Given the description of an element on the screen output the (x, y) to click on. 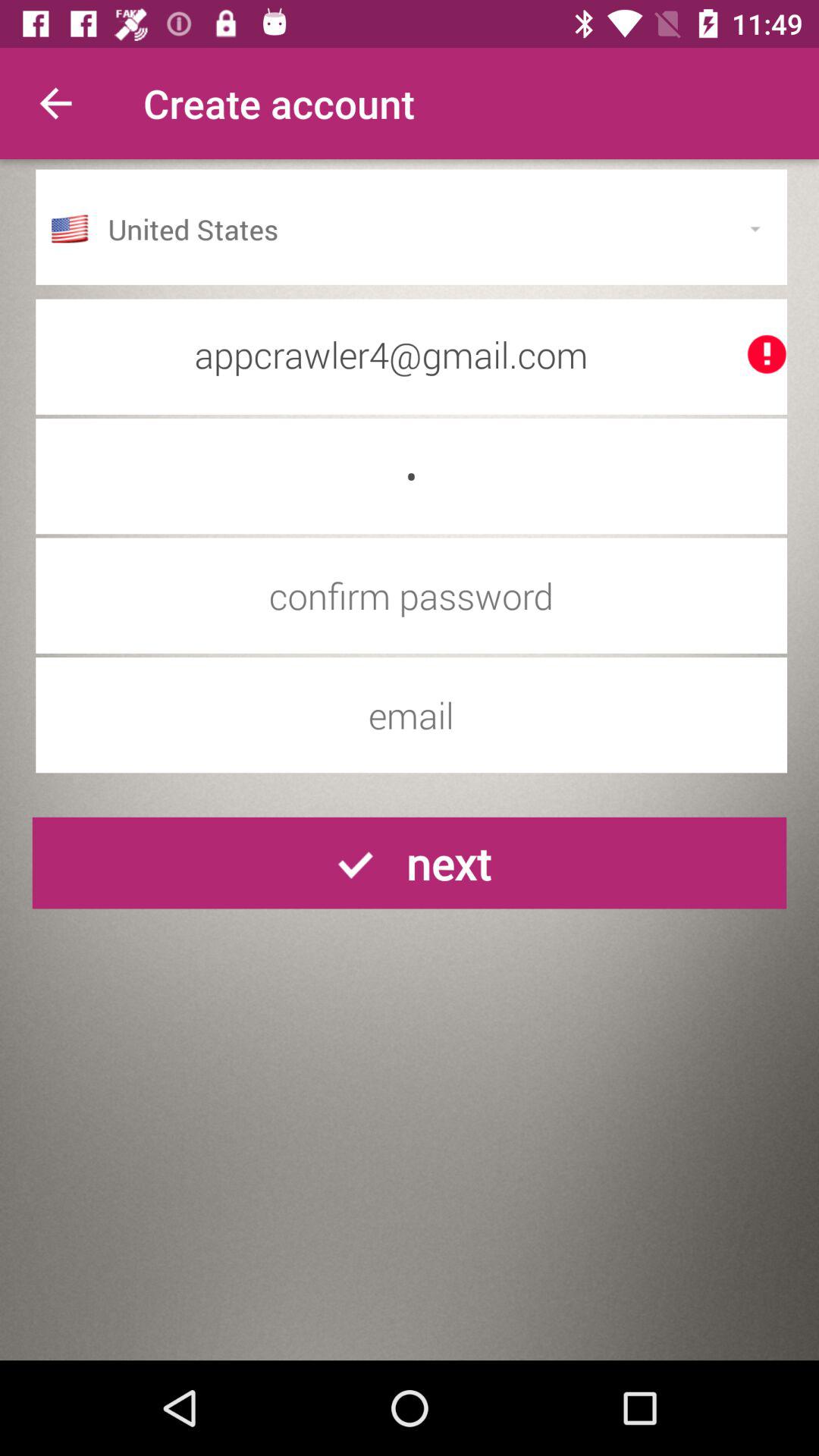
scroll to c icon (411, 476)
